Given the description of an element on the screen output the (x, y) to click on. 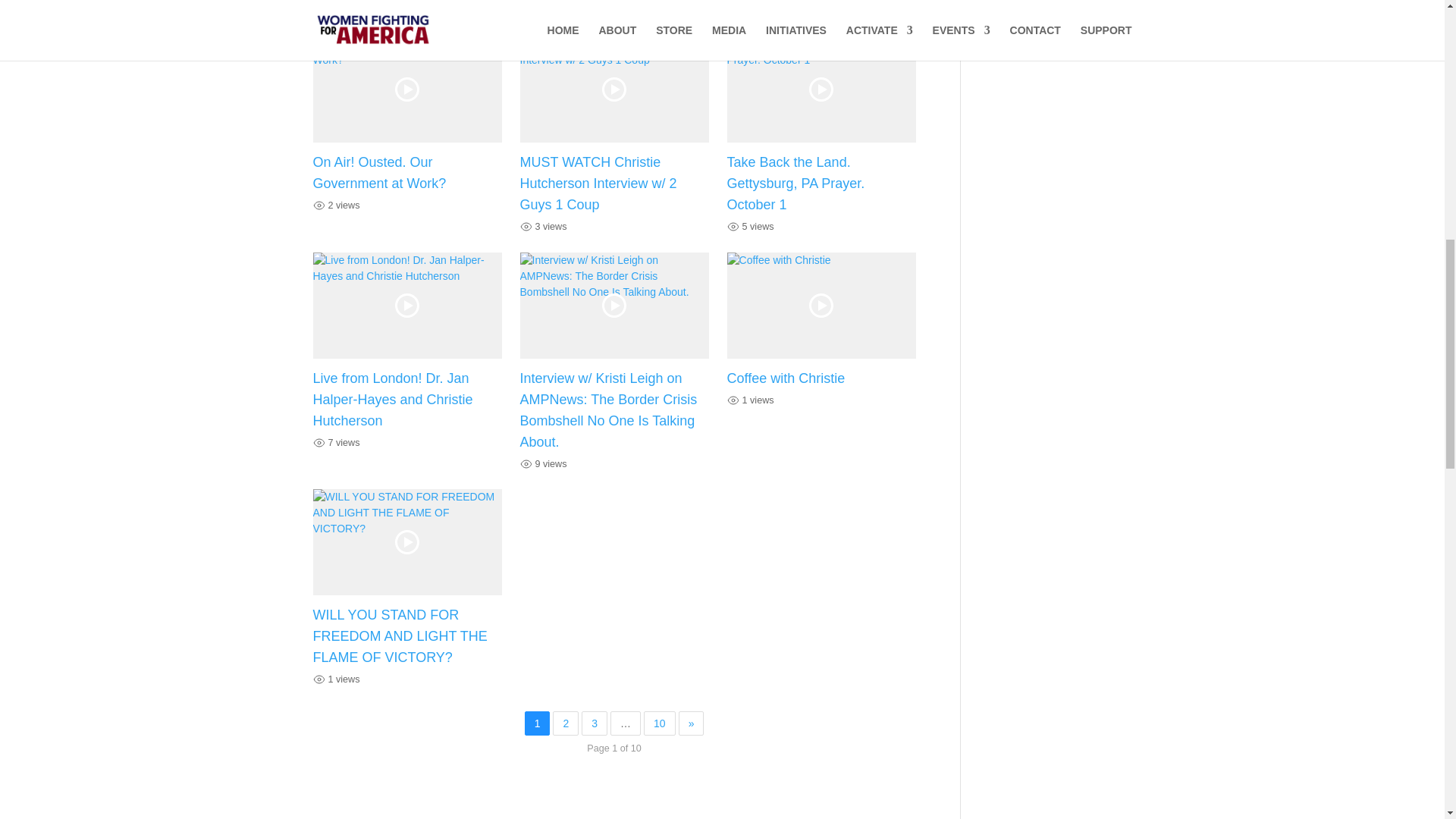
Take Back the Land. Gettysburg, PA Prayer. October 1 (795, 183)
Coffee with Christie (785, 378)
On Air! Ousted. Our Government at Work? (379, 172)
